Given the description of an element on the screen output the (x, y) to click on. 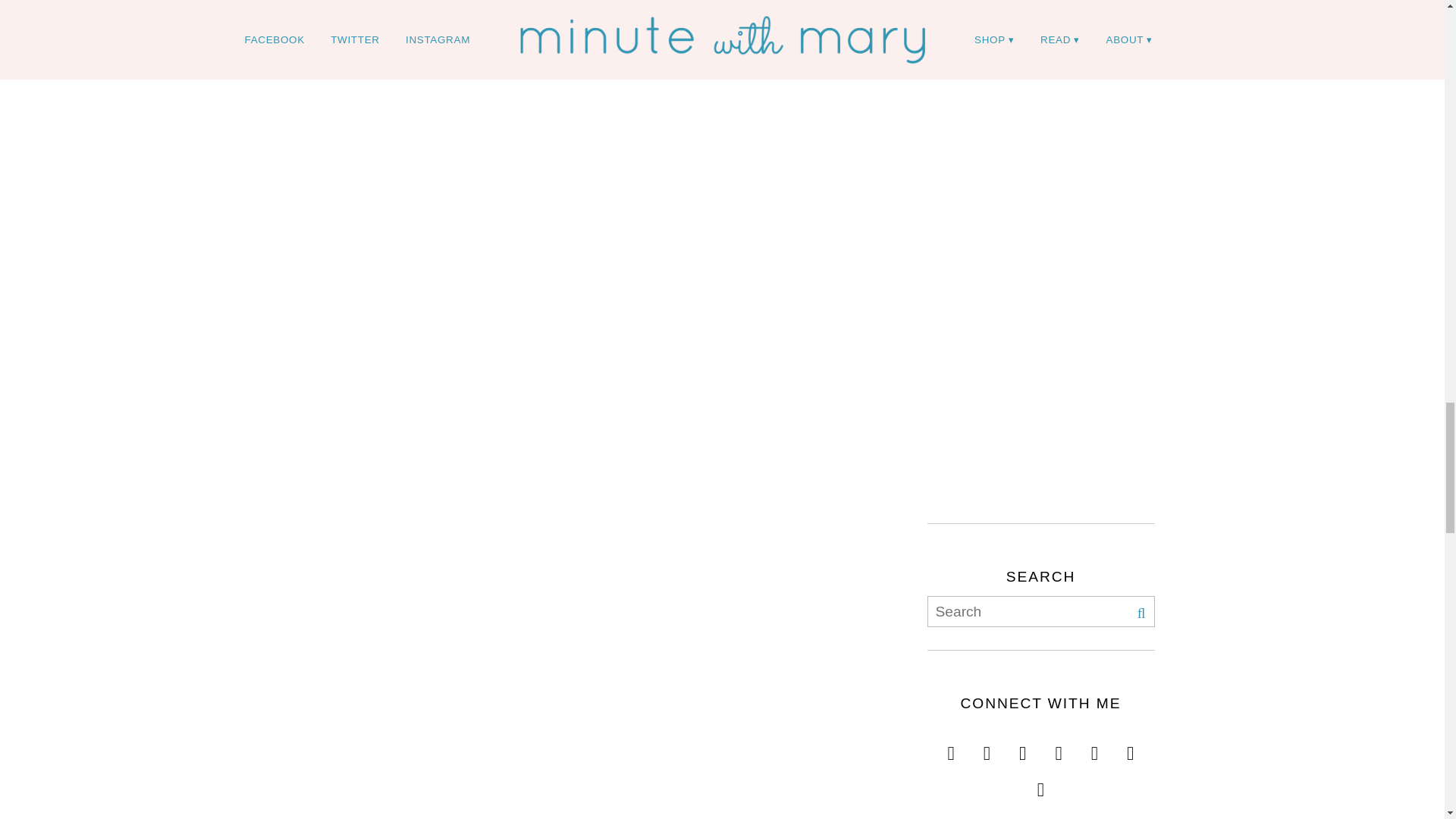
Spotify (1039, 782)
LinkedIn (1130, 746)
YouTube (986, 746)
Facebook (1022, 746)
Twitter (1058, 746)
Instagram (950, 746)
Pinterest (1093, 746)
